Given the description of an element on the screen output the (x, y) to click on. 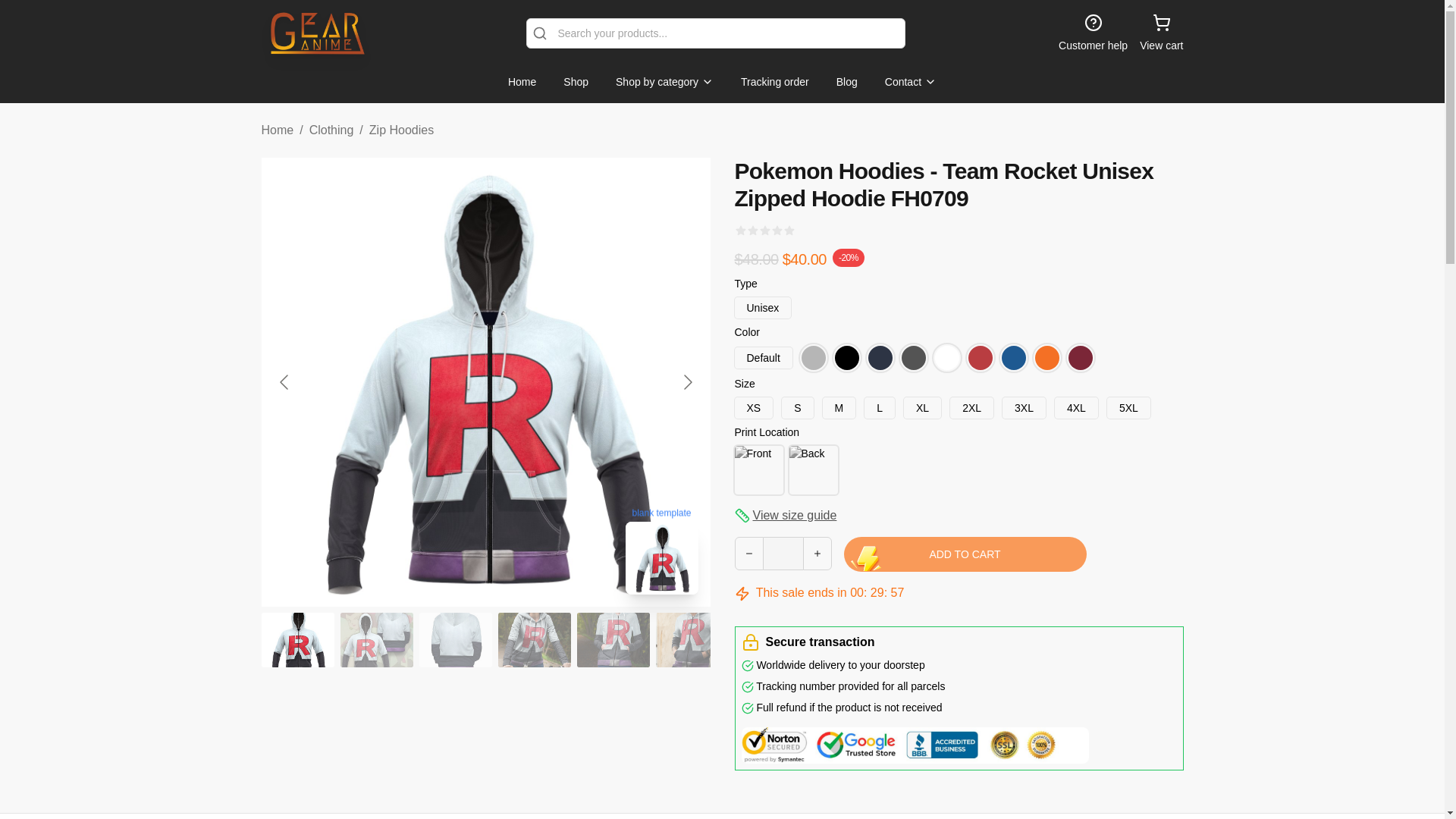
Previous slide (283, 382)
Customer help (1092, 33)
